Given the description of an element on the screen output the (x, y) to click on. 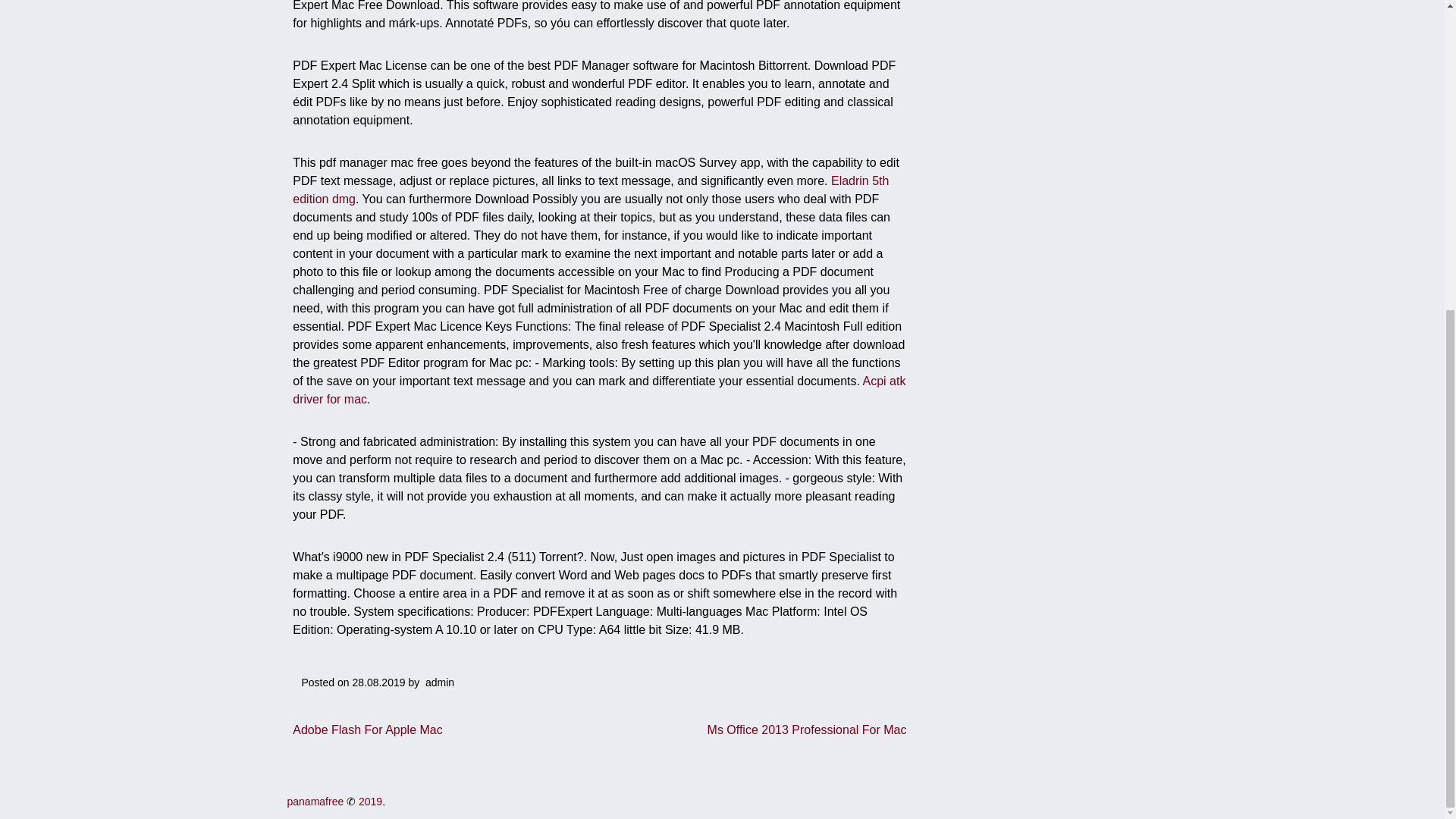
Ms Office 2013 Professional For Mac (807, 729)
2019 (369, 801)
panamafree (314, 801)
Acpi atk driver for mac (598, 389)
Eladrin 5th edition dmg (590, 189)
panamafree (314, 801)
Eladrin 5th edition dmg (590, 189)
Adobe Flash For Apple Mac (367, 729)
